Given the description of an element on the screen output the (x, y) to click on. 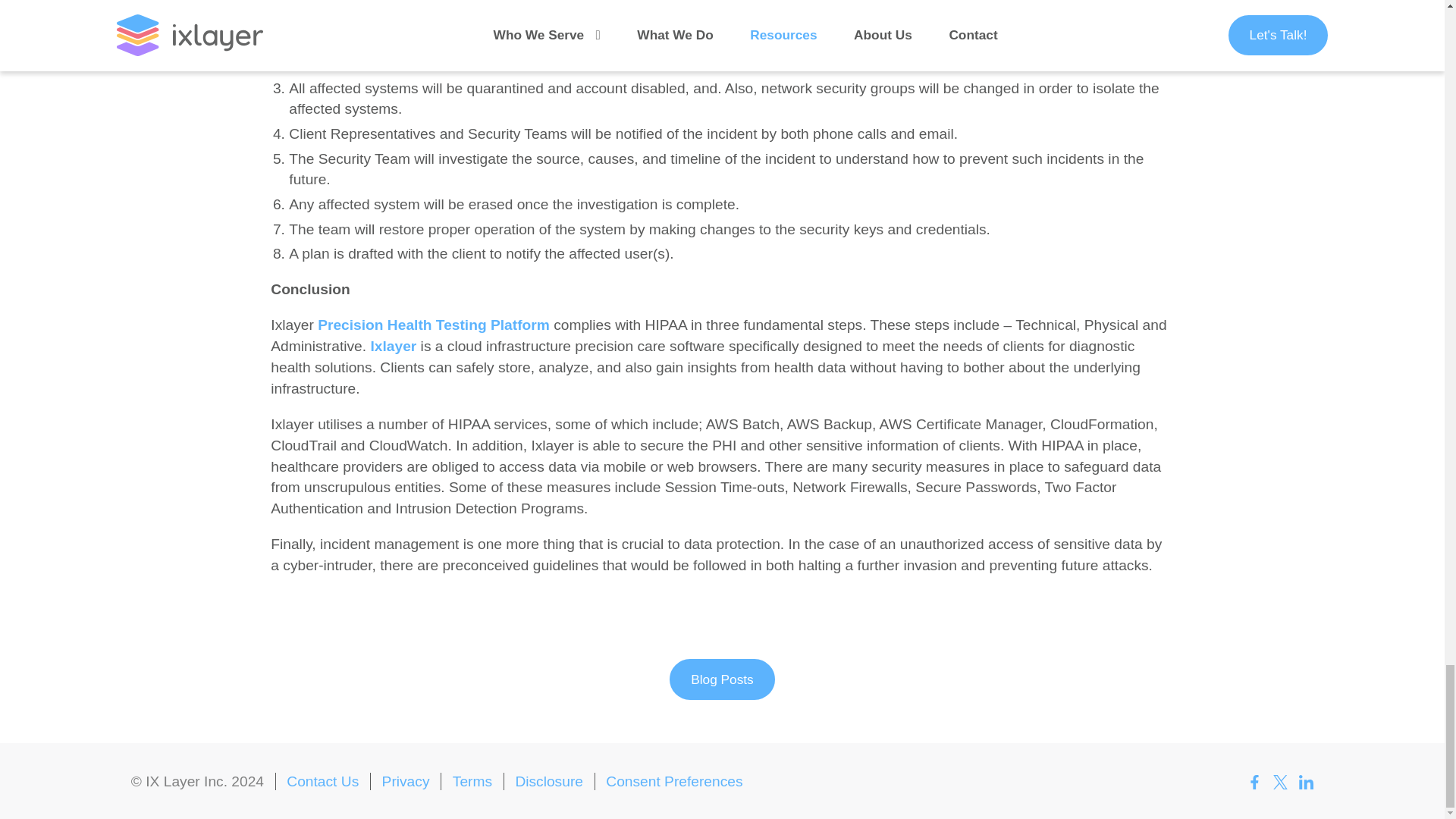
Blog Posts (721, 679)
Consent Preferences (673, 781)
Ixlayer (392, 345)
Precision Health Testing Platform (433, 324)
Disclosure (549, 781)
Terms (472, 781)
Privacy (405, 781)
Contact Us (322, 781)
